Given the description of an element on the screen output the (x, y) to click on. 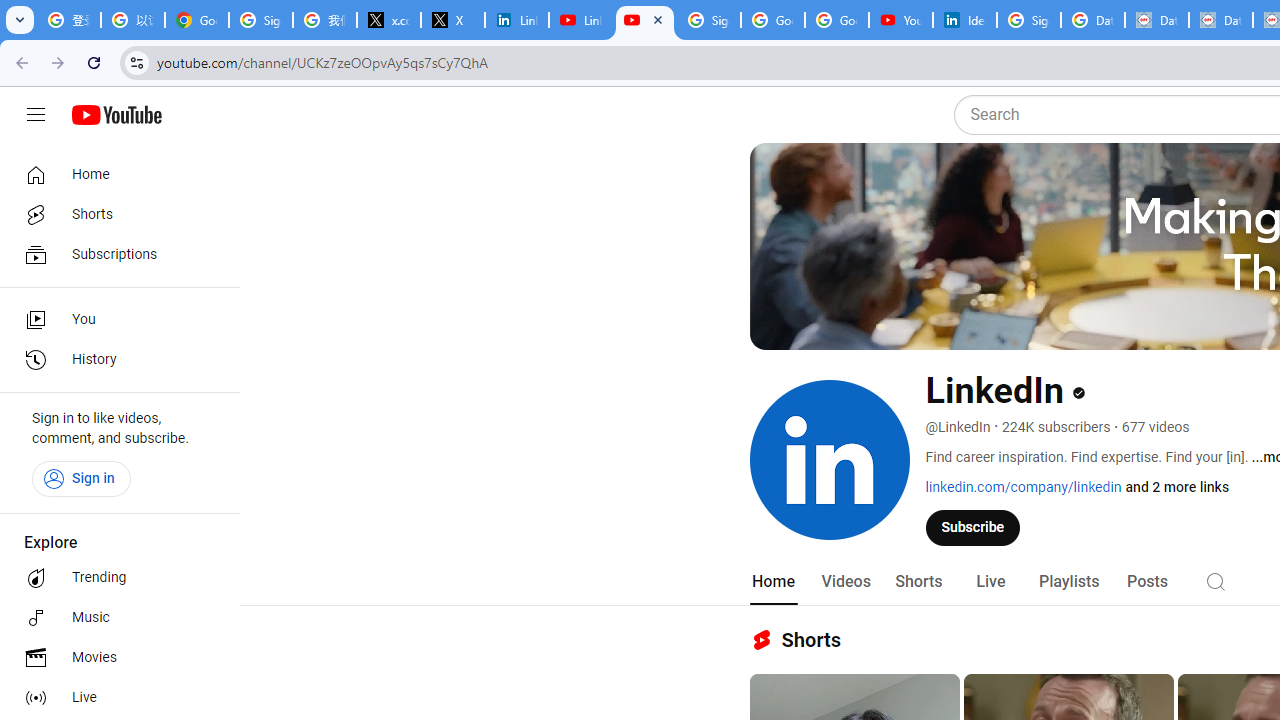
Music (113, 617)
Data Privacy Framework (1157, 20)
Trending (113, 578)
History (113, 359)
Sign in - Google Accounts (1029, 20)
Home (772, 581)
Data Privacy Framework (1221, 20)
Live (113, 697)
Sign in - Google Accounts (261, 20)
X (453, 20)
